Given the description of an element on the screen output the (x, y) to click on. 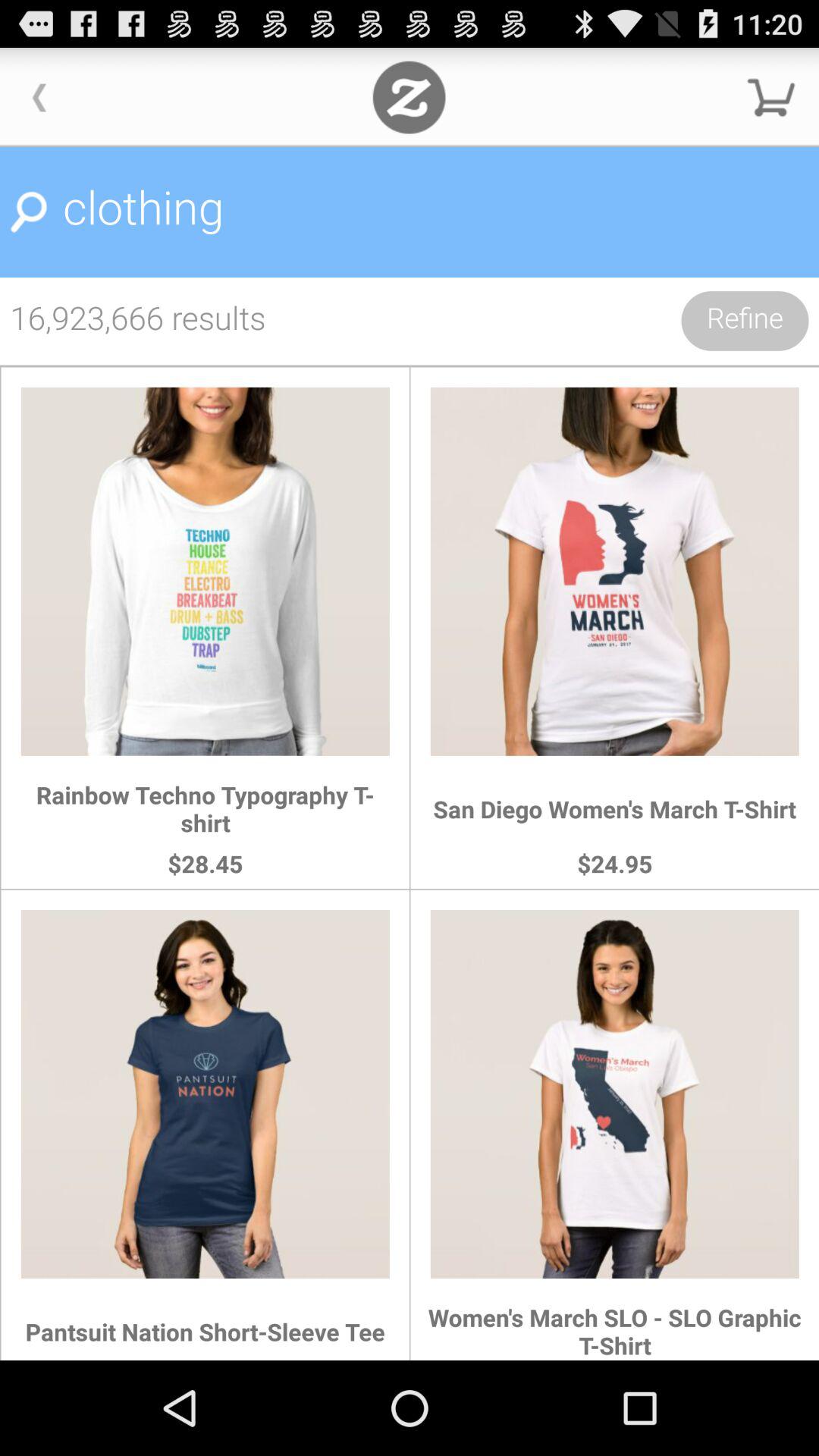
tap clothing icon (409, 212)
